Given the description of an element on the screen output the (x, y) to click on. 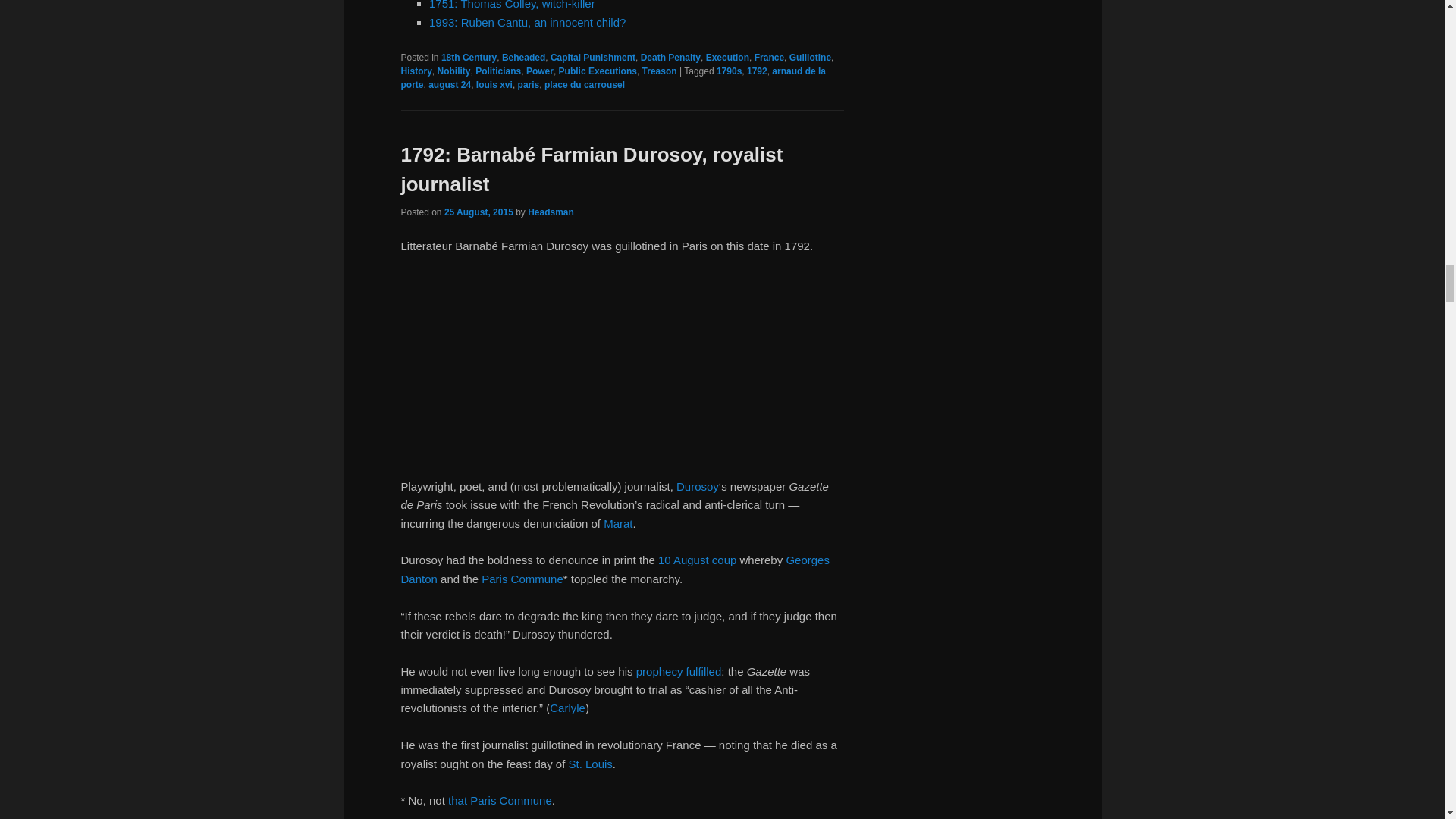
View all posts by Headsman (550, 212)
3:21 pm (478, 212)
